Given the description of an element on the screen output the (x, y) to click on. 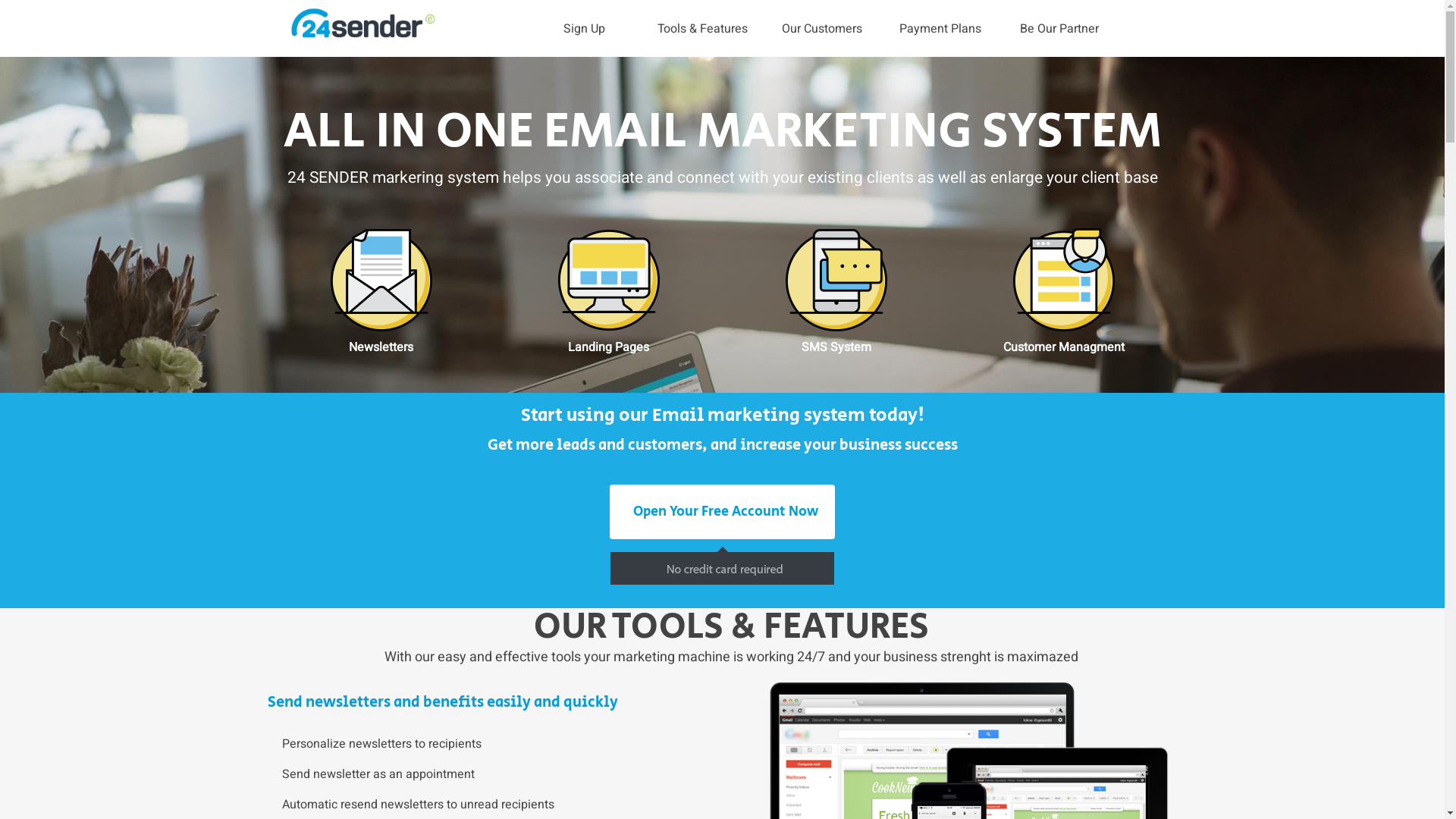
Open Your Free Account Now   Element type: text (721, 511)
Be Our Partner Element type: text (1059, 28)
Our Customers Element type: text (821, 28)
Sign Up Element type: text (584, 28)
Payment Plans Element type: text (940, 28)
Tools & Features Element type: text (703, 28)
